Given the description of an element on the screen output the (x, y) to click on. 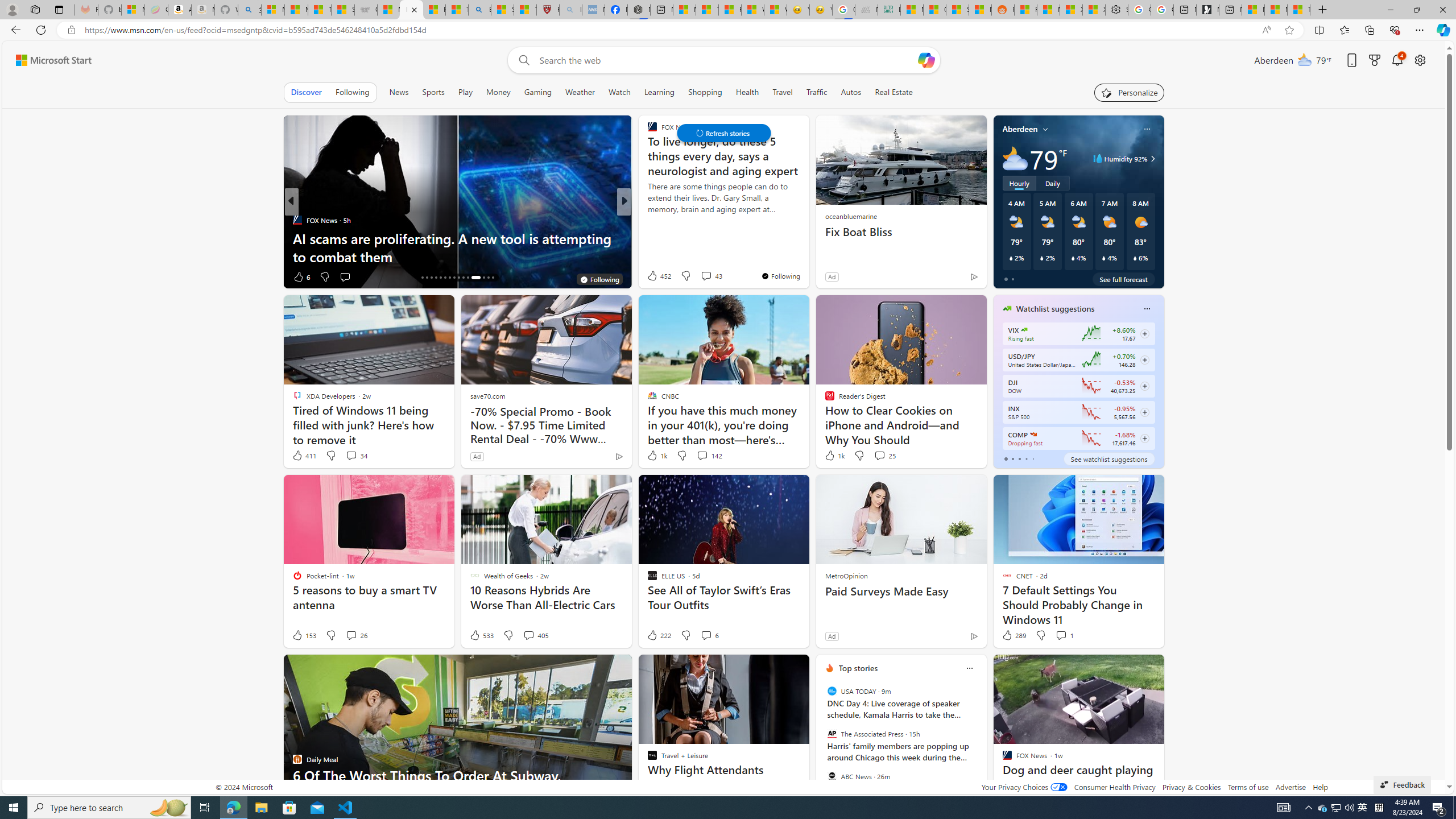
Moneywise (647, 219)
next (980, 741)
View comments 67 Comment (6, 276)
323 Like (654, 276)
View comments 34 Comment (350, 455)
